Given the description of an element on the screen output the (x, y) to click on. 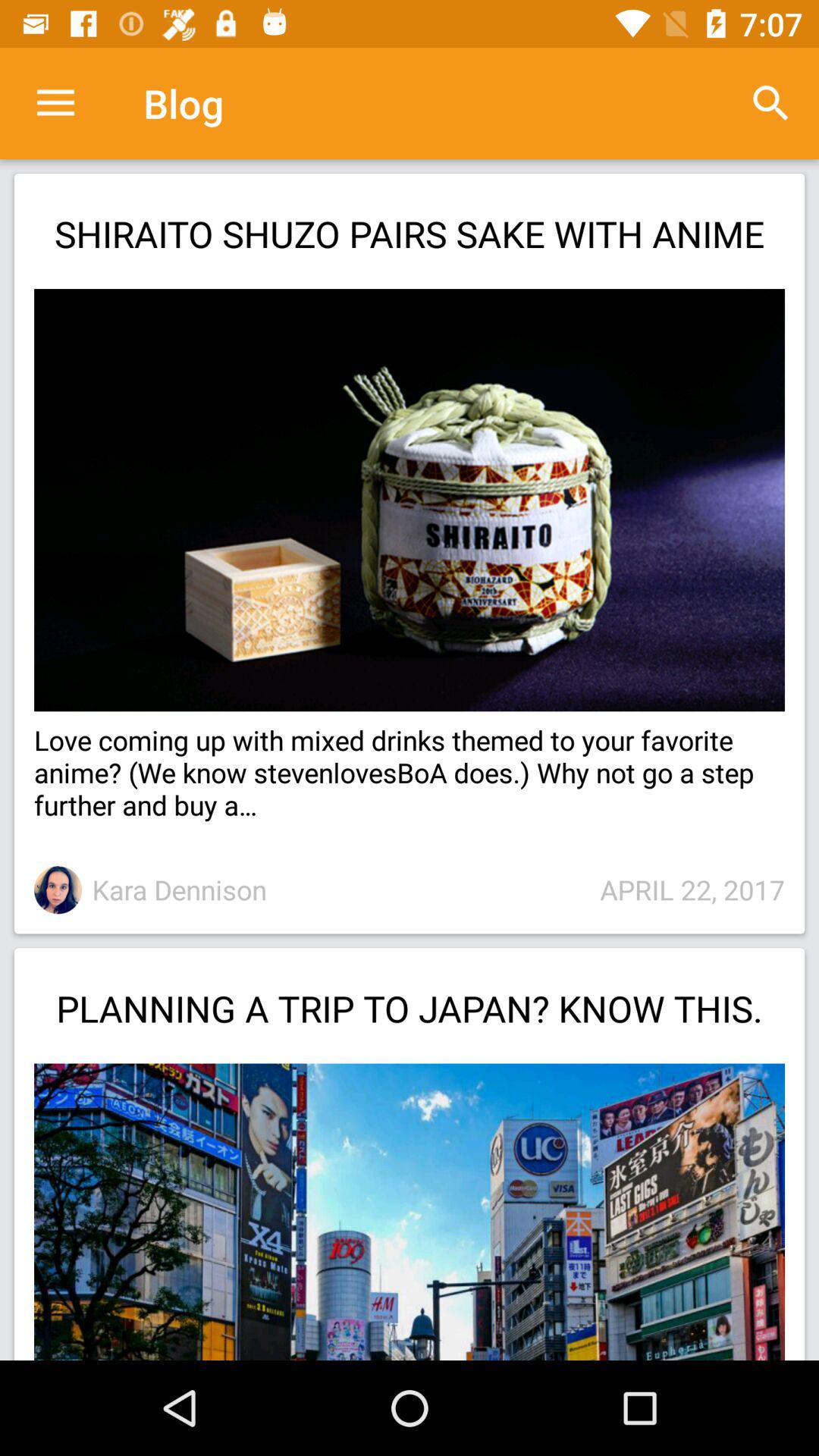
tap the icon to the right of the blog app (771, 103)
